Given the description of an element on the screen output the (x, y) to click on. 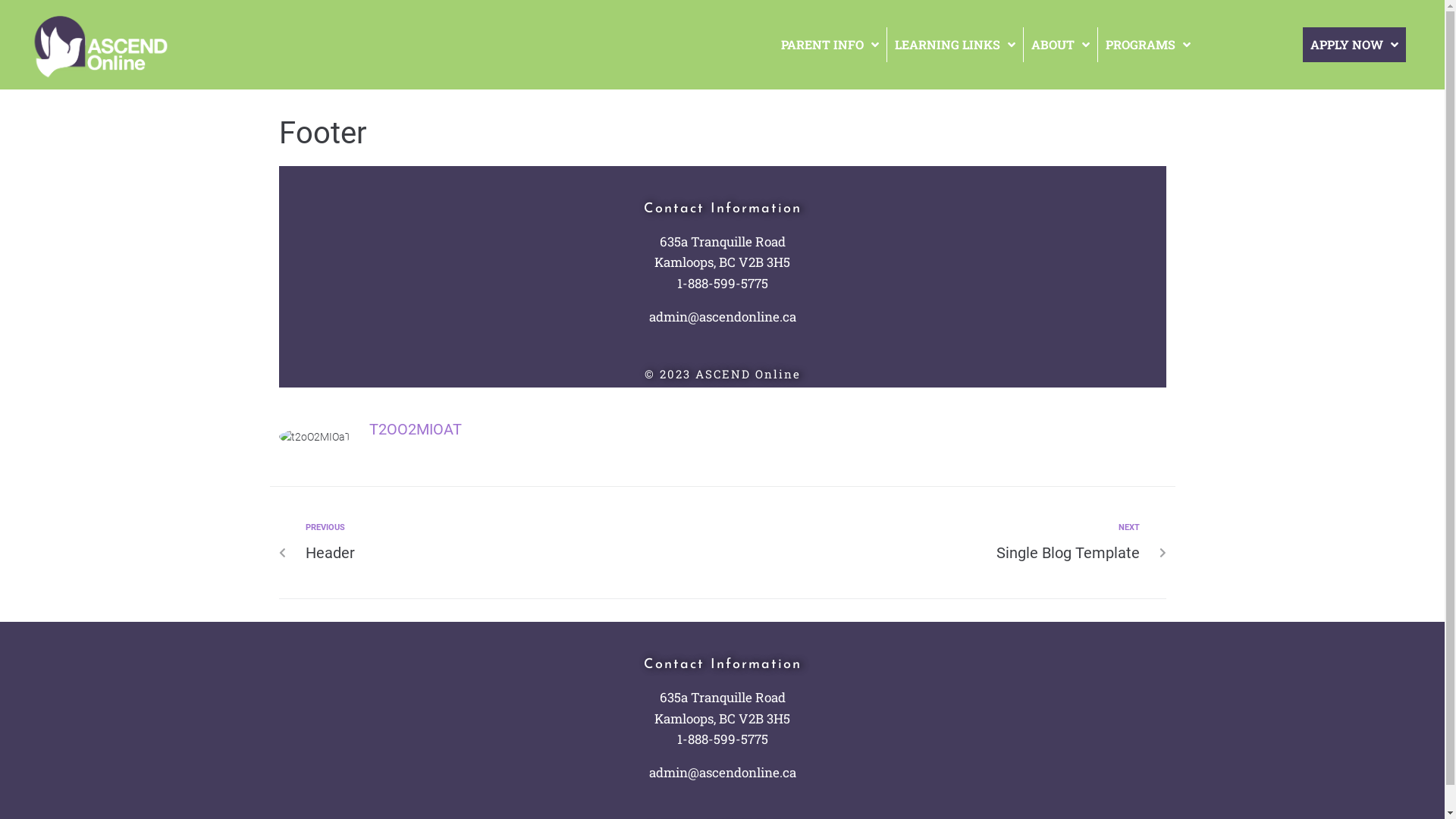
APPLY NOW Element type: text (1353, 44)
PROGRAMS Element type: text (1148, 44)
ABOUT Element type: text (1060, 44)
T2OO2MIOAT Element type: text (414, 429)
NEXT
Single Blog Template Element type: text (936, 542)
PARENT INFO Element type: text (830, 44)
PREVIOUS
Header Element type: text (507, 542)
LEARNING LINKS Element type: text (955, 44)
